Given the description of an element on the screen output the (x, y) to click on. 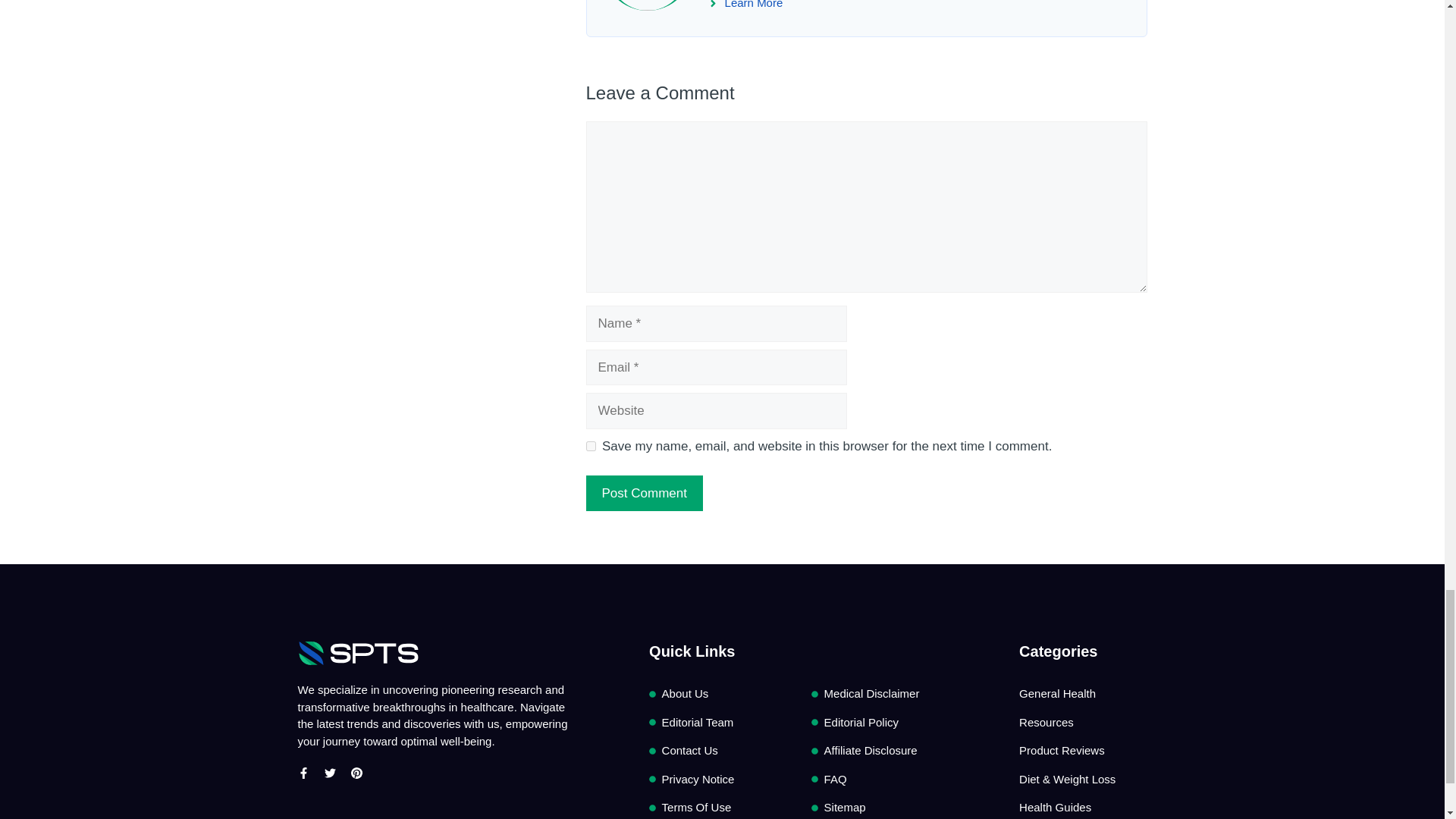
yes (590, 446)
SPTS-White (358, 652)
Post Comment (643, 493)
